Given the description of an element on the screen output the (x, y) to click on. 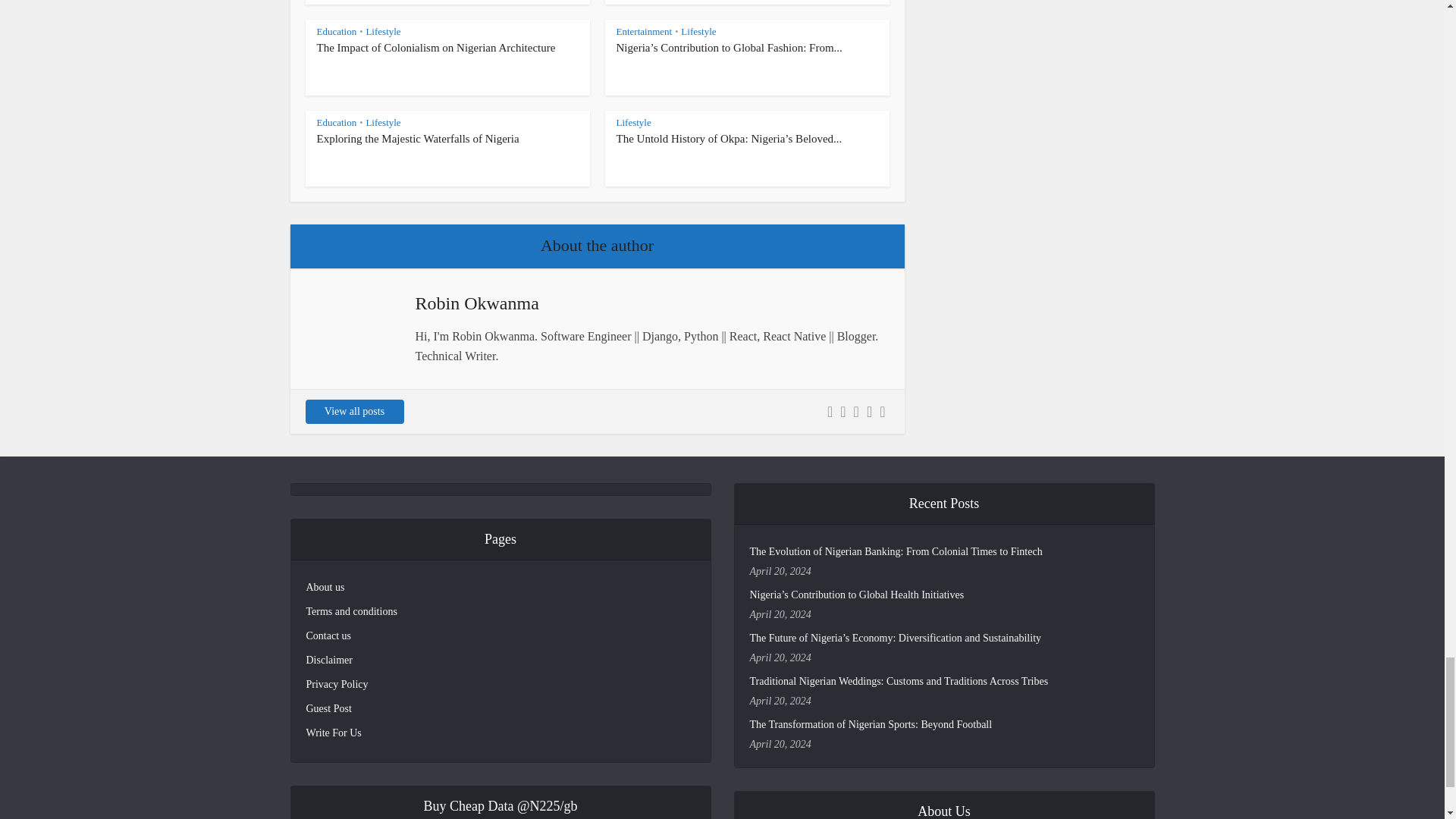
The Impact of Colonialism on Nigerian Architecture (436, 47)
Exploring the Majestic Waterfalls of Nigeria (418, 138)
